Given the description of an element on the screen output the (x, y) to click on. 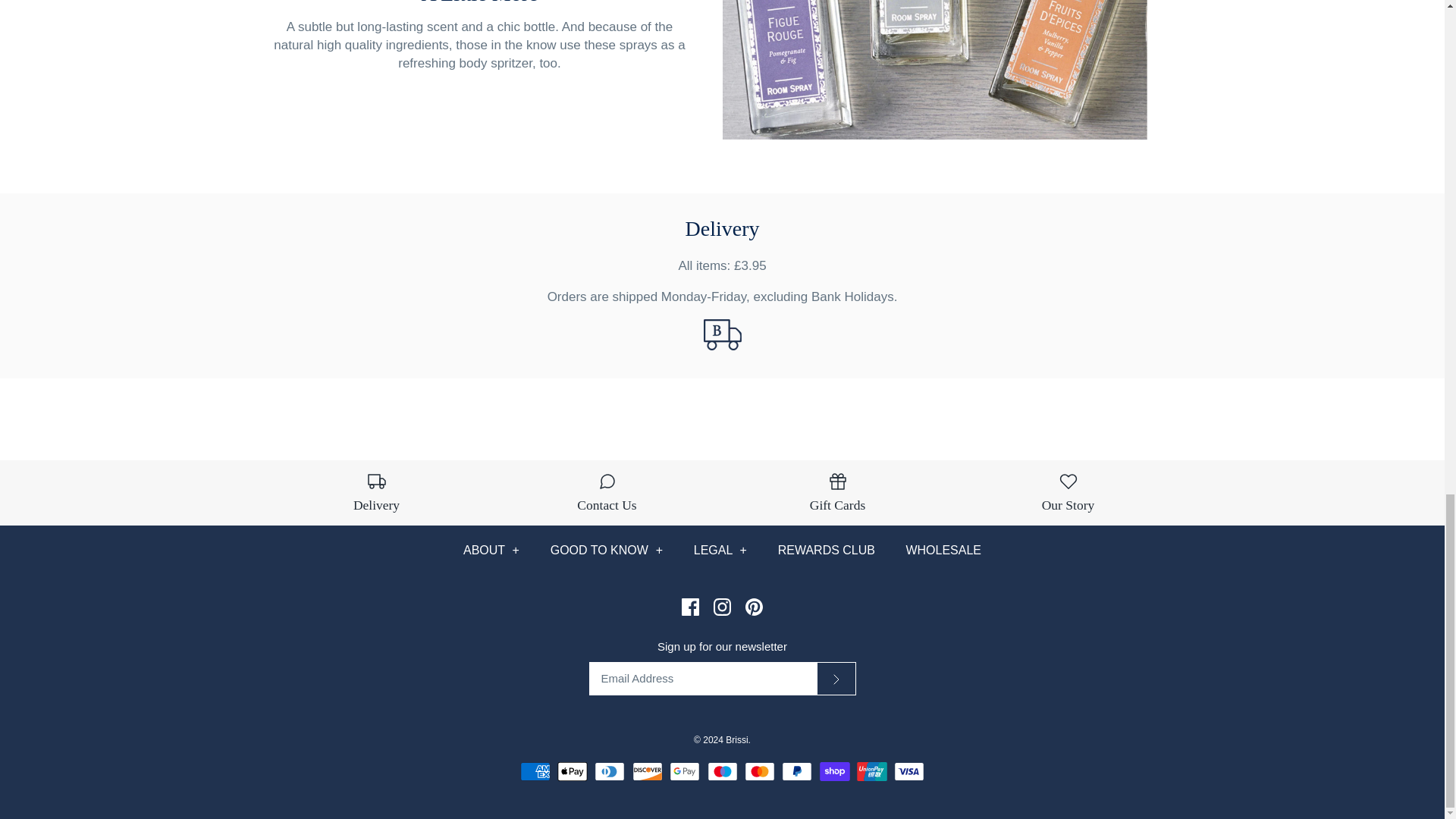
Maestro (721, 771)
Facebook (689, 606)
Instagram (721, 606)
Mastercard (759, 771)
Discover (646, 771)
Shop Pay (834, 771)
Facebook (689, 606)
Instagram (721, 606)
Apple Pay (572, 771)
Google Pay (684, 771)
